Given the description of an element on the screen output the (x, y) to click on. 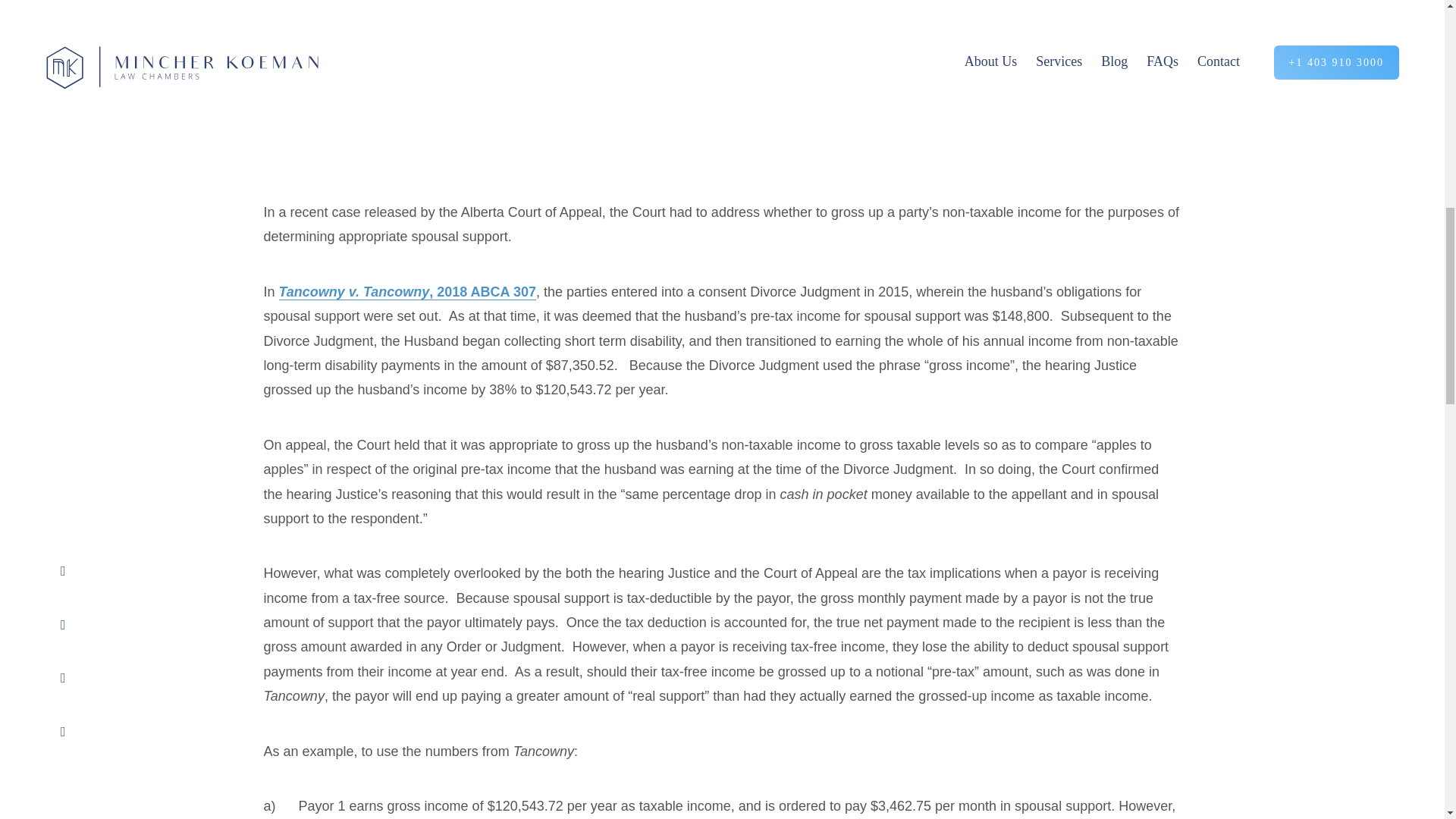
Tancowny v. Tancowny, 2018 ABCA 307 (407, 292)
